Given the description of an element on the screen output the (x, y) to click on. 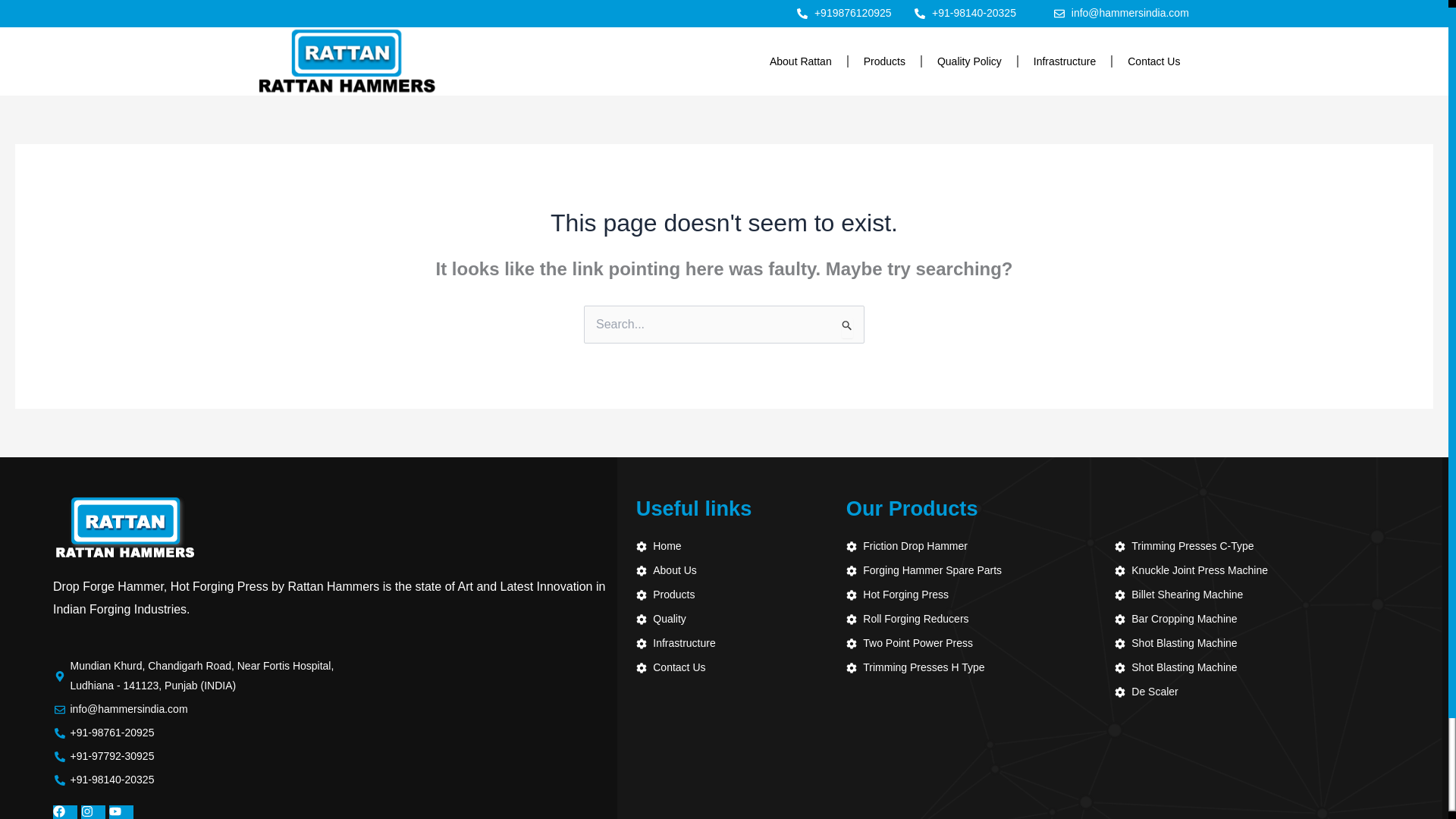
Contact Us (1153, 61)
Quality Policy (968, 61)
Infrastructure (1063, 61)
Products (884, 61)
About Rattan (800, 61)
